Given the description of an element on the screen output the (x, y) to click on. 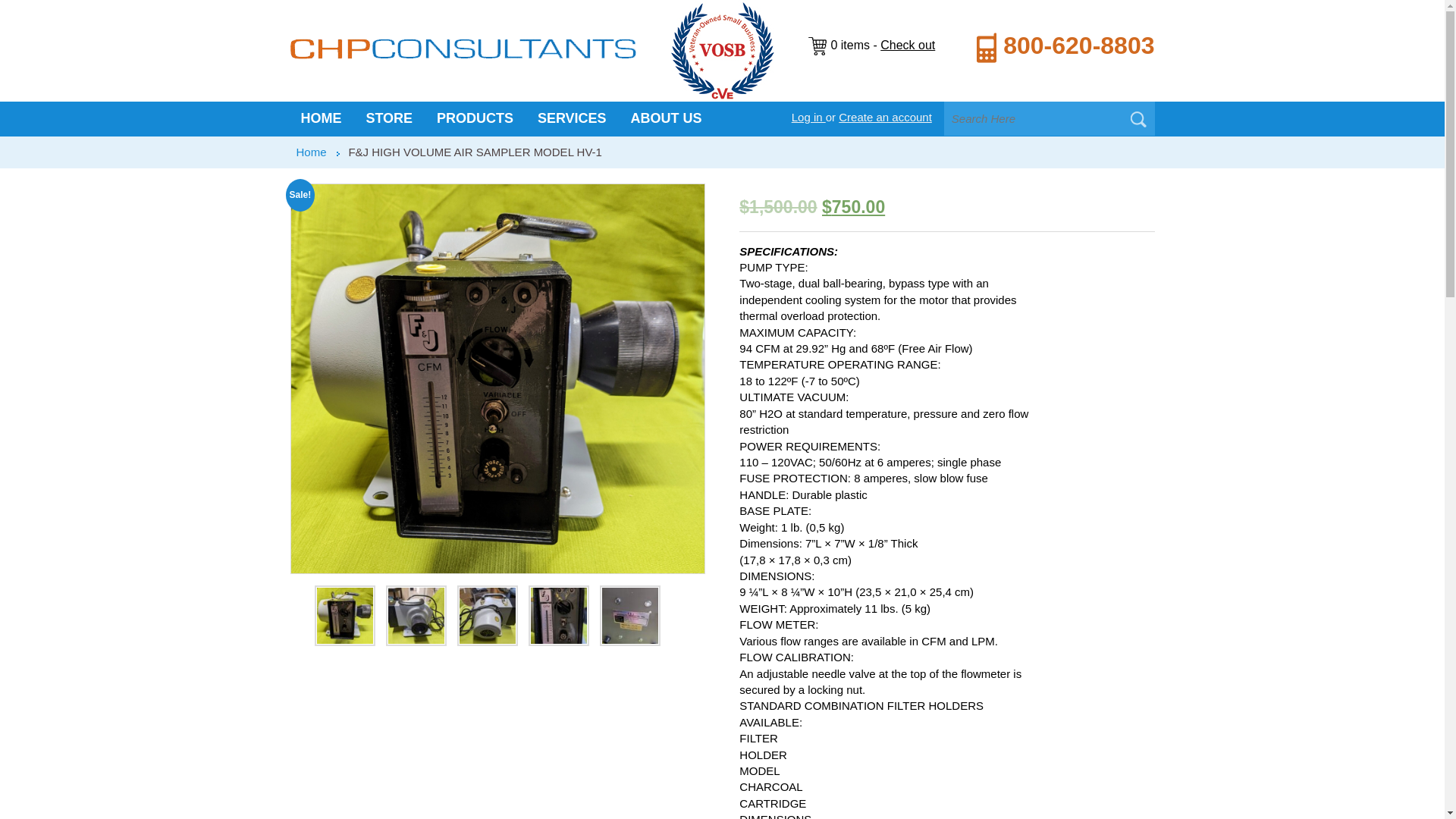
PRODUCTS (475, 118)
Search (1138, 119)
Home (310, 151)
Create an account (884, 116)
SERVICES (572, 118)
Log in (808, 116)
ABOUT US (665, 118)
HOME (320, 118)
Search (1138, 119)
STORE (389, 118)
Check out (907, 44)
